Given the description of an element on the screen output the (x, y) to click on. 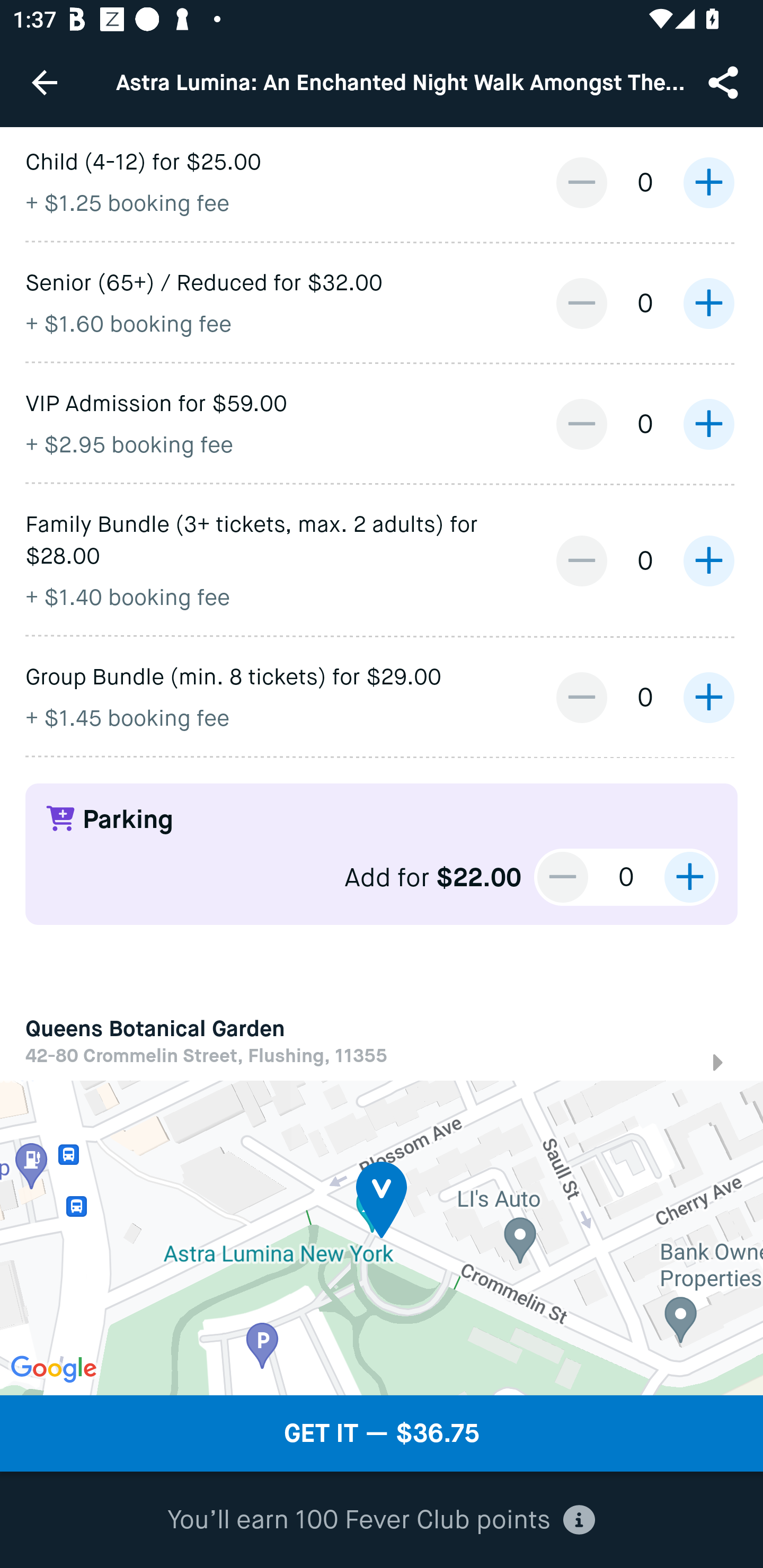
Navigate up (44, 82)
Share (724, 81)
decrease (581, 182)
increase (708, 182)
decrease (581, 302)
increase (708, 302)
decrease (581, 423)
increase (708, 423)
decrease (581, 560)
increase (708, 560)
decrease (581, 697)
increase (708, 697)
decrease (562, 876)
increase (689, 876)
Google Map Map Marker (381, 1237)
GET IT — $36.75 (381, 1433)
You’ll earn 100 Fever Club points (381, 1519)
